Given the description of an element on the screen output the (x, y) to click on. 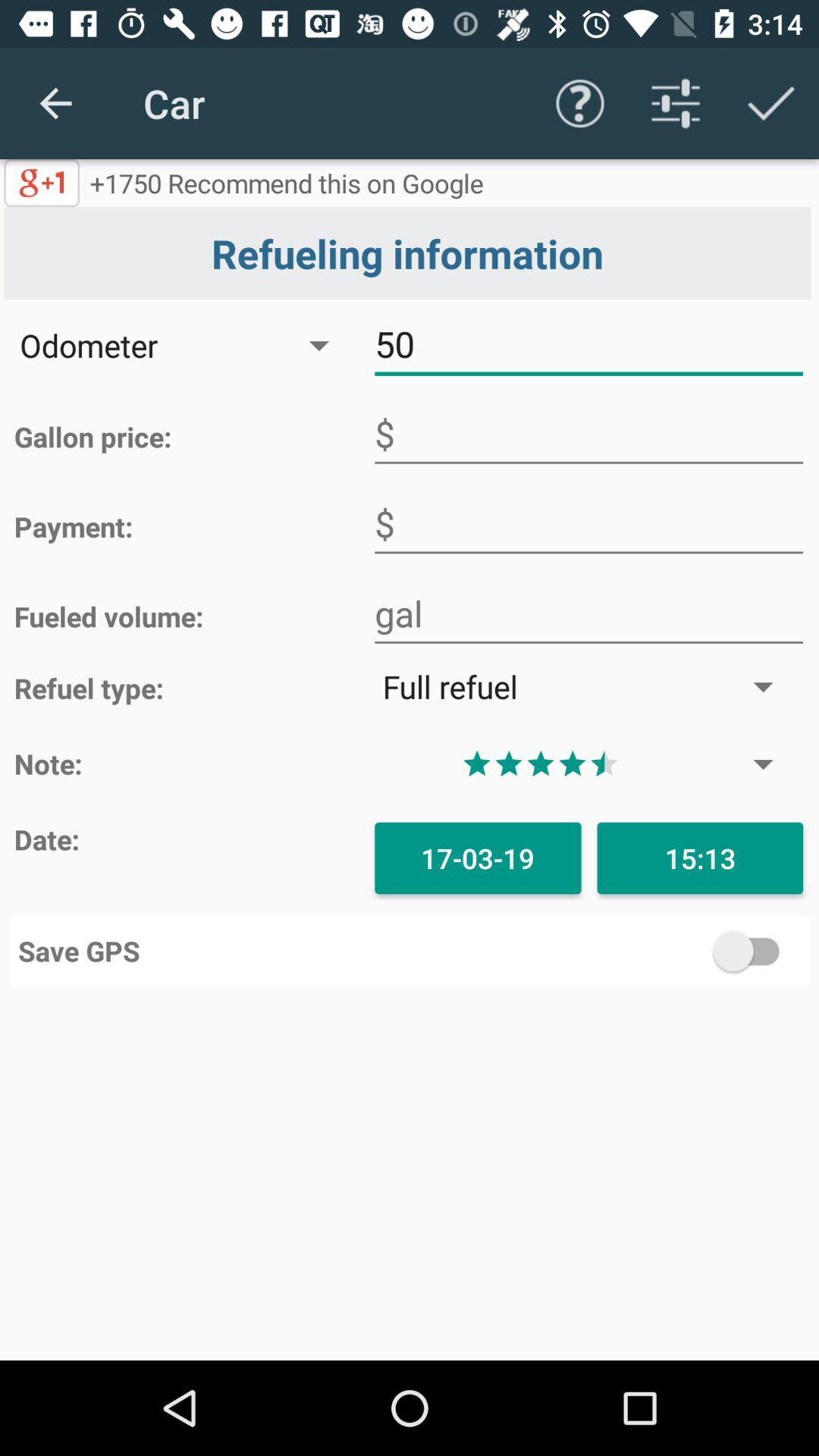
launch the icon to the right of the save gps (604, 951)
